Given the description of an element on the screen output the (x, y) to click on. 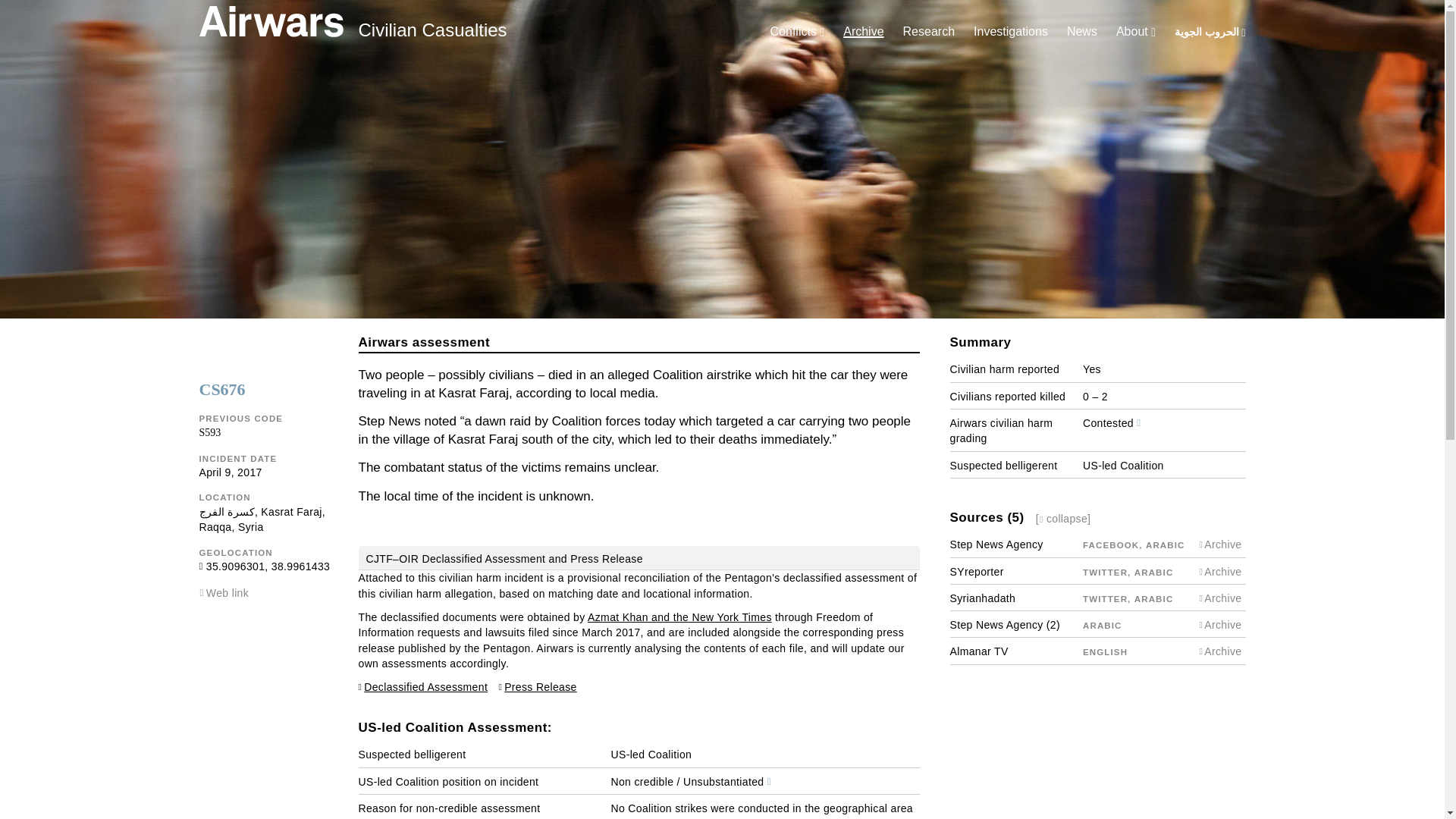
Investigations (1011, 31)
Research (928, 31)
News (1082, 31)
Archive (863, 31)
Web link (227, 592)
